Given the description of an element on the screen output the (x, y) to click on. 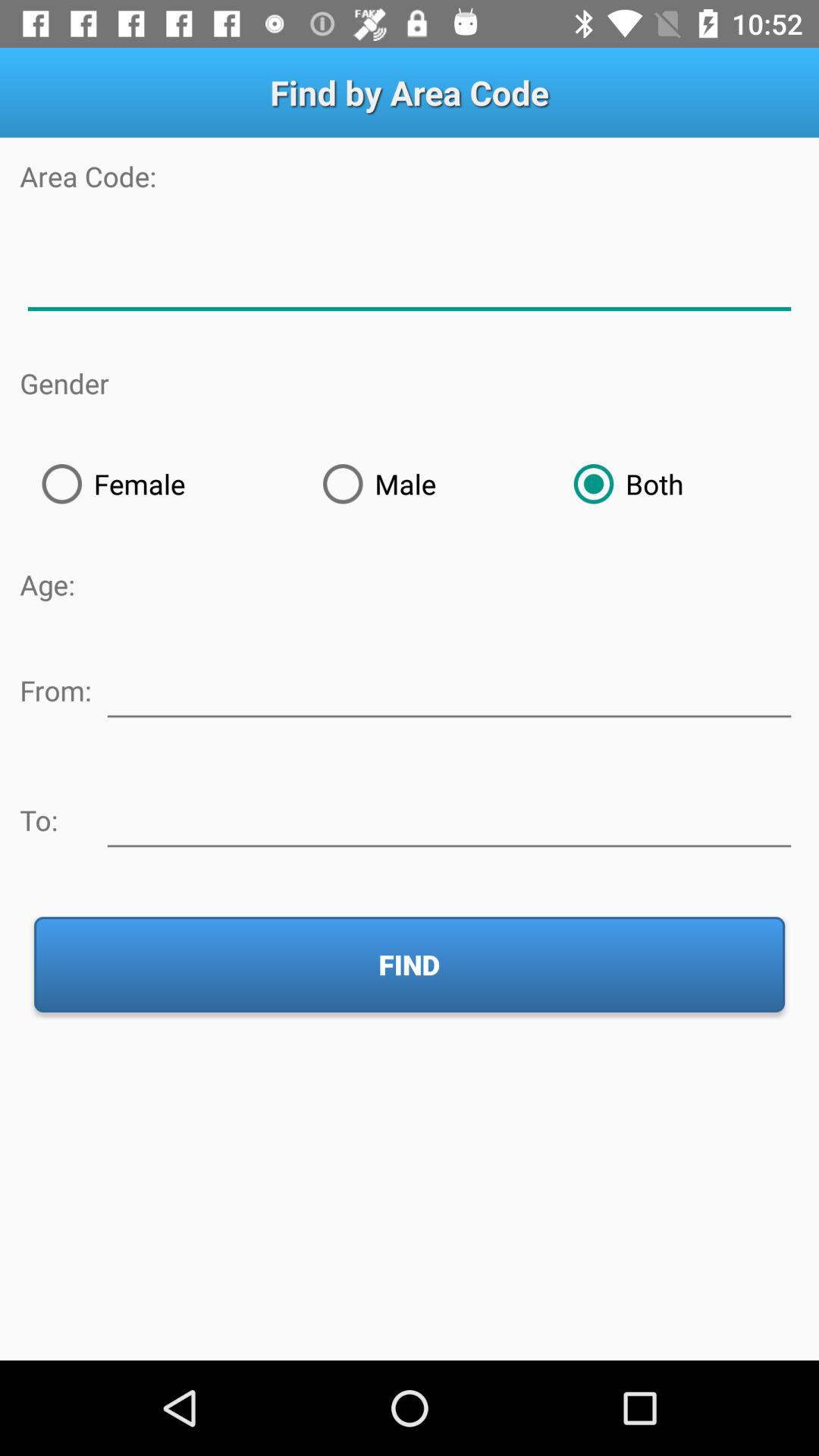
choose item above age: icon (160, 483)
